Given the description of an element on the screen output the (x, y) to click on. 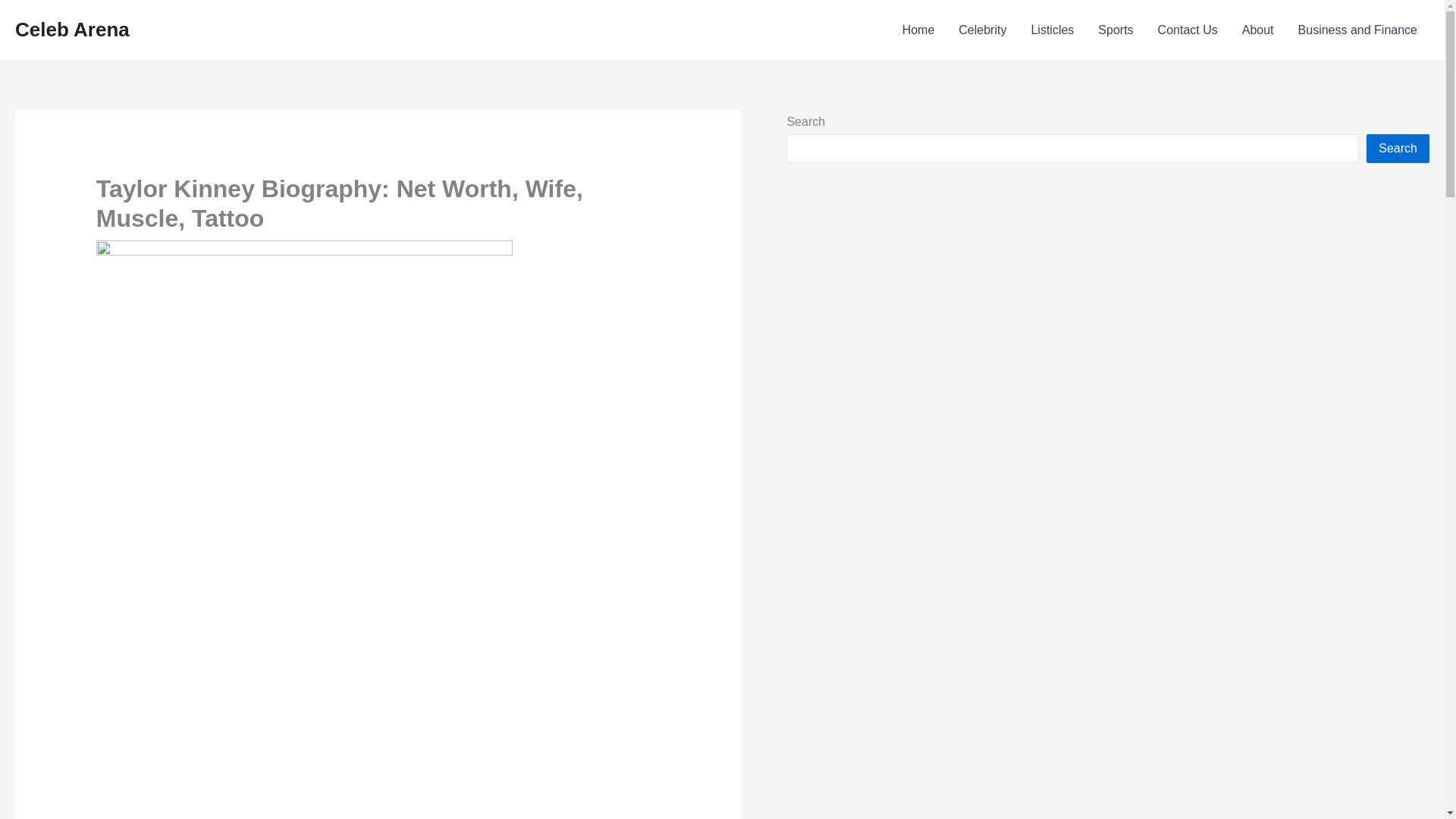
Celebrity (981, 30)
Contact Us (1187, 30)
Business and Finance (1357, 30)
Celeb Arena (71, 29)
Sports (1115, 30)
Listicles (1051, 30)
About (1257, 30)
Home (918, 30)
